Given the description of an element on the screen output the (x, y) to click on. 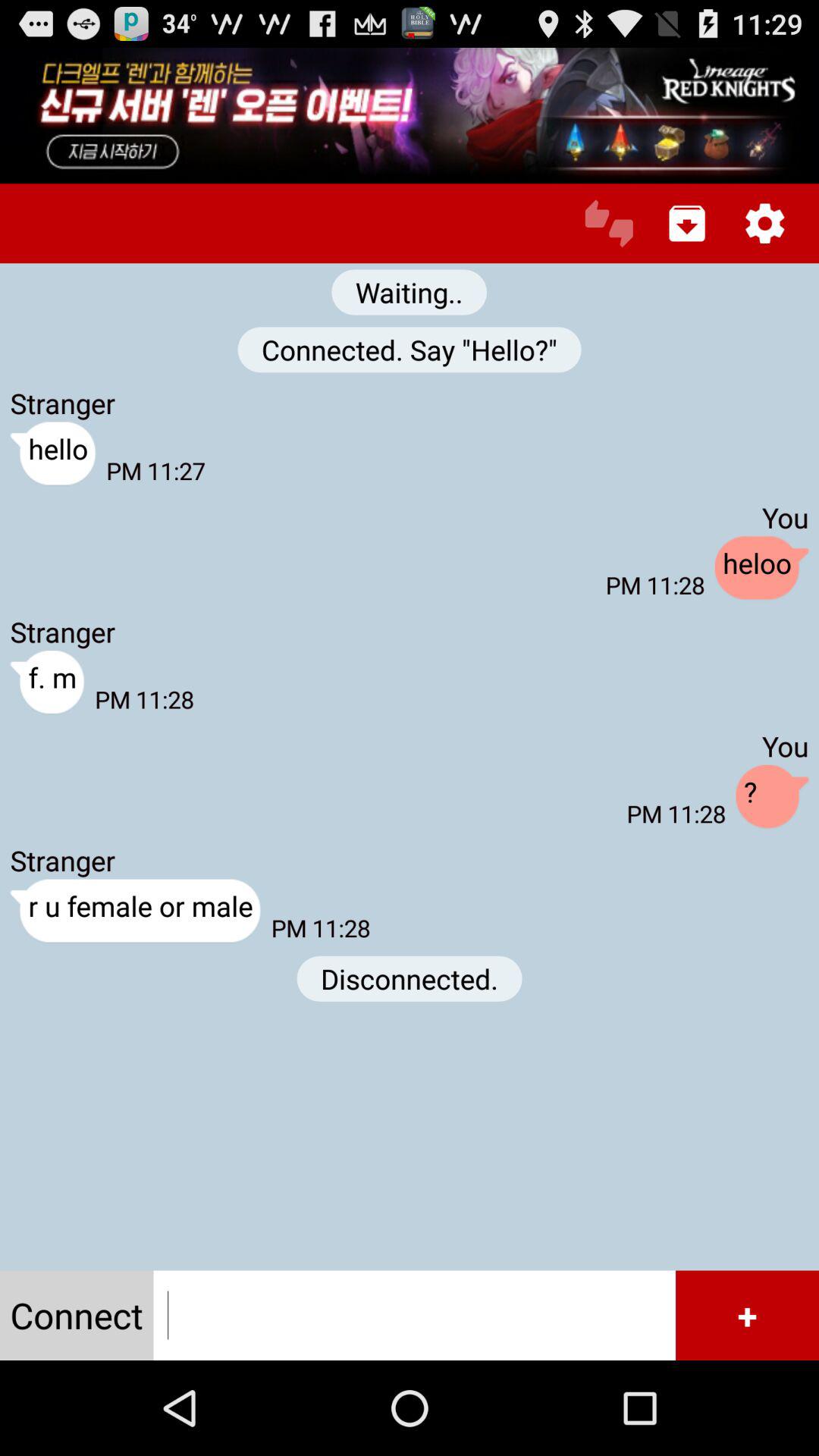
scroll to connected. say "hello?" app (409, 349)
